Given the description of an element on the screen output the (x, y) to click on. 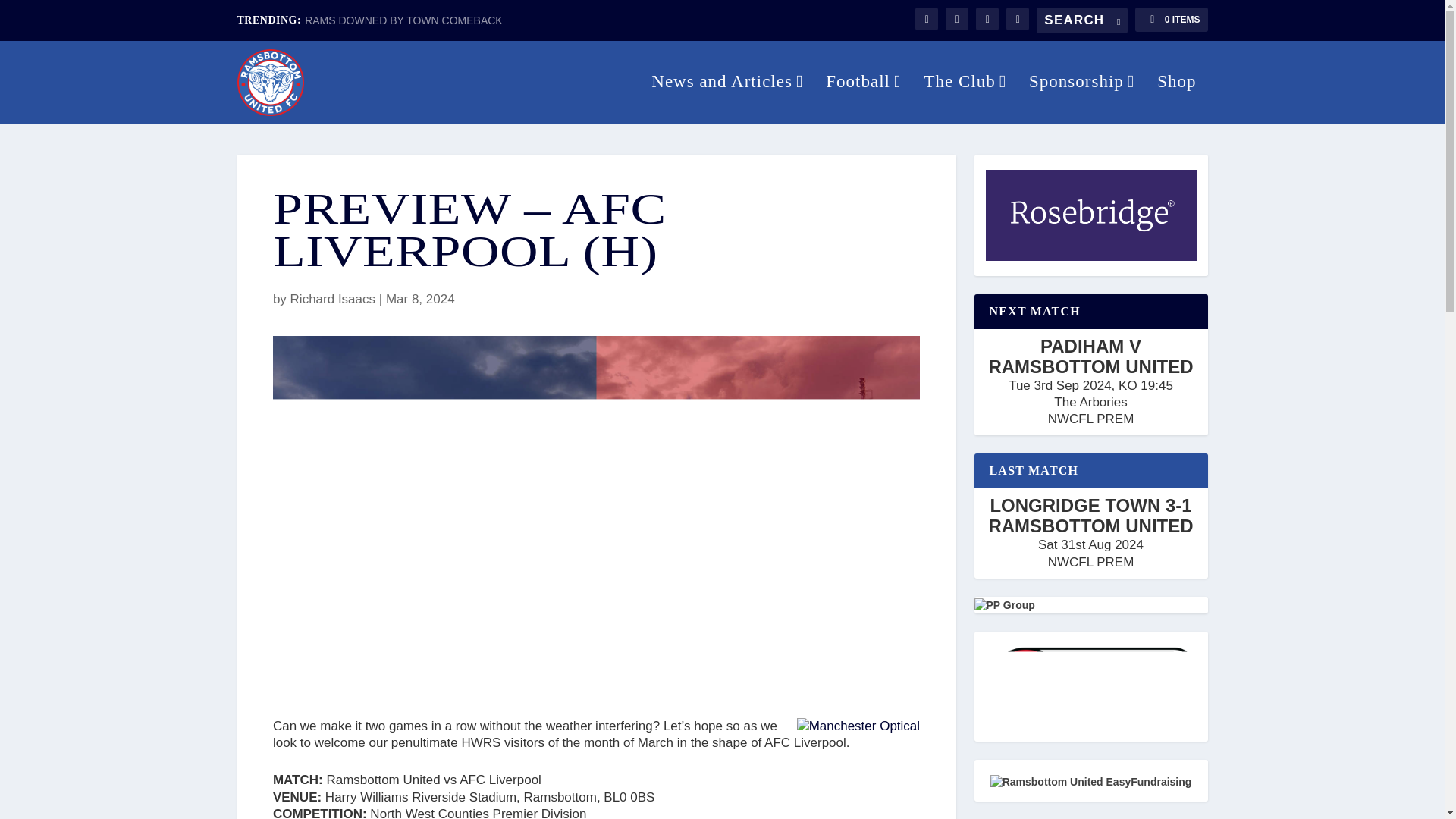
Search for: (1081, 20)
0 Items in Cart (1171, 19)
Richard Isaacs (332, 298)
Football (863, 98)
0 ITEMS (1171, 19)
The Club (964, 98)
Posts by Richard Isaacs (332, 298)
News and Articles (726, 98)
Sponsorship (1081, 98)
RAMS DOWNED BY TOWN COMEBACK (403, 20)
